Given the description of an element on the screen output the (x, y) to click on. 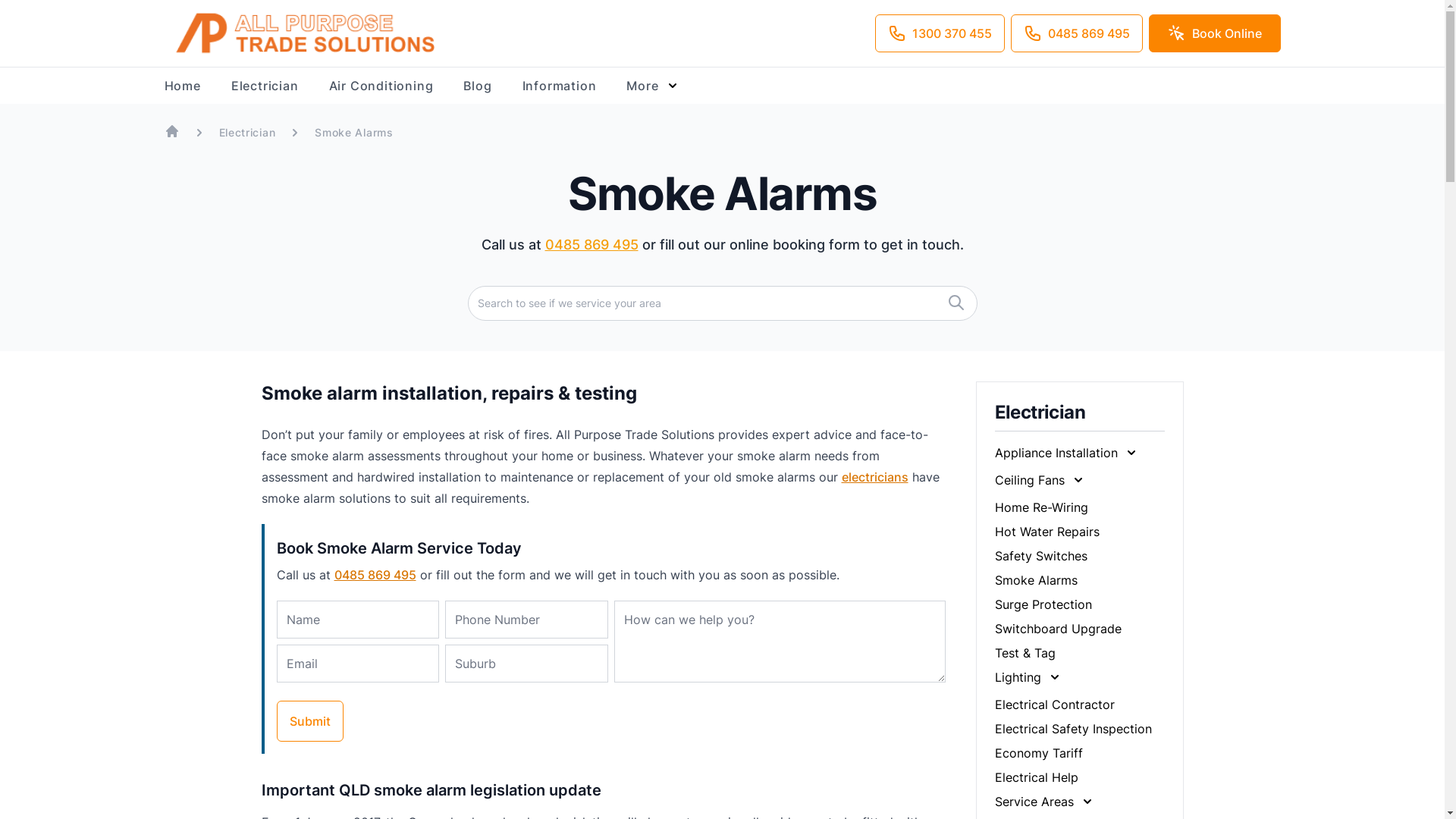
Hot Water Repairs Element type: text (1046, 531)
Test & Tag Element type: text (1024, 652)
Home Element type: text (181, 85)
Safety Switches Element type: text (1040, 555)
Blog Element type: text (477, 85)
Service Areas Element type: text (1044, 801)
Appliance Installation Element type: text (1066, 452)
Electrician Element type: text (264, 85)
1300 370 455 Element type: text (939, 33)
0485 869 495 Element type: text (374, 574)
Air Conditioning Element type: text (381, 85)
Switchboard Upgrade Element type: text (1057, 628)
Surge Protection Element type: text (1043, 603)
electricians Element type: text (874, 476)
Electrical Safety Inspection Element type: text (1072, 728)
Search Services near you Element type: hover (955, 302)
0485 869 495 Element type: text (590, 244)
Electrical Help Element type: text (1036, 776)
Submit Element type: text (309, 720)
0485 869 495 Element type: text (1076, 33)
Electrical Contractor Element type: text (1054, 704)
Lighting Element type: text (1028, 677)
Economy Tariff Element type: text (1038, 752)
Book Online Element type: text (1214, 33)
Smoke Alarms Element type: text (353, 131)
Ceiling Fans Element type: text (1039, 479)
Information Element type: text (559, 85)
All Purpose Trade Solutions Home Page Element type: hover (170, 130)
Smoke Alarms Element type: text (1035, 579)
Home Re-Wiring Element type: text (1041, 506)
Electrician Element type: text (246, 131)
